Given the description of an element on the screen output the (x, y) to click on. 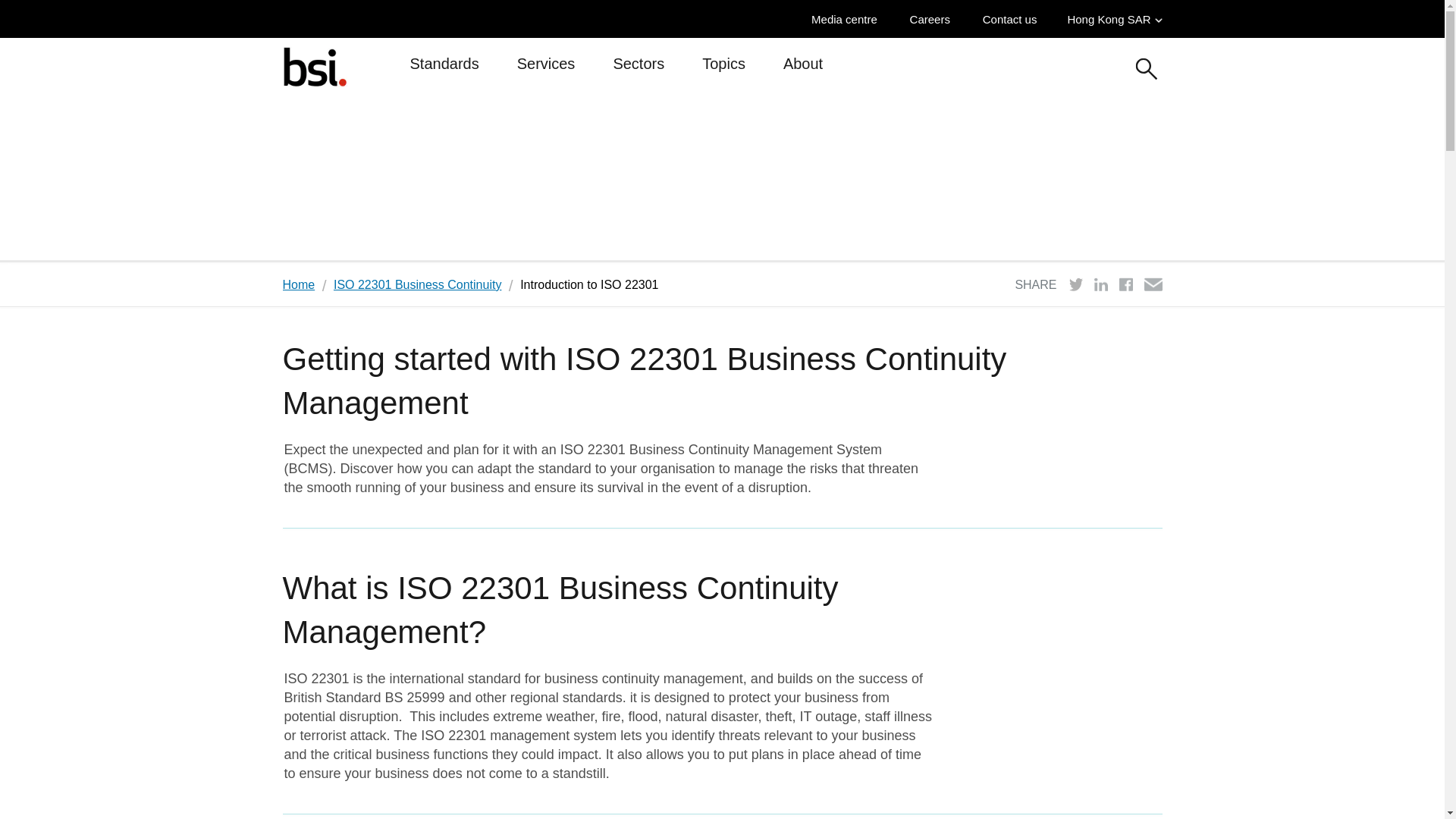
Careers (934, 19)
Careers (934, 19)
Media centre (847, 19)
logo (314, 65)
Standards (444, 70)
Hong Kong SAR (1114, 19)
Contact us (1013, 19)
Media centre (847, 19)
Contact us (1013, 19)
